Given the description of an element on the screen output the (x, y) to click on. 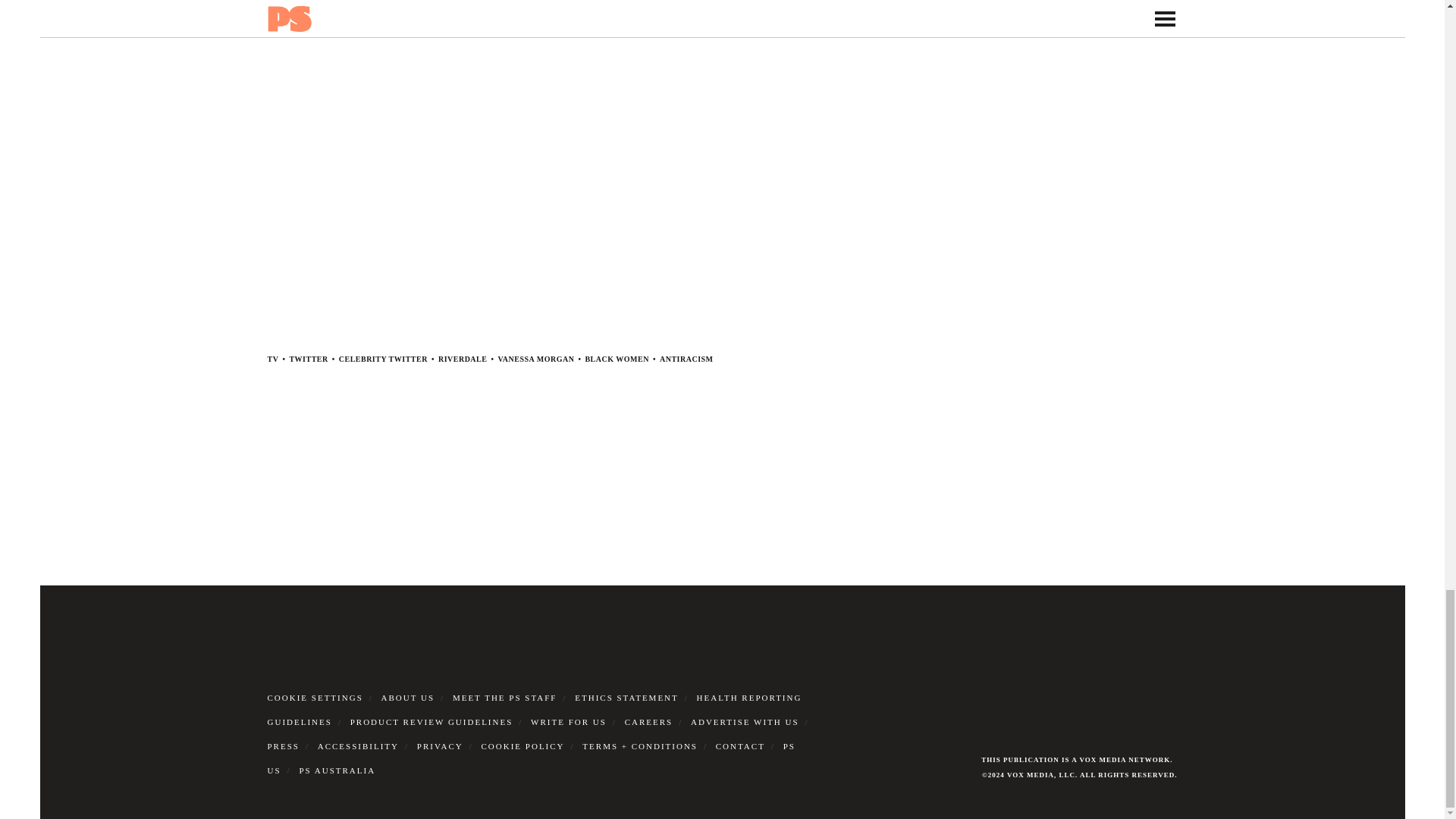
WRITE FOR US (569, 721)
PRODUCT REVIEW GUIDELINES (431, 721)
CELEBRITY TWITTER (383, 358)
TWITTER (307, 358)
CAREERS (648, 721)
BLACK WOMEN (617, 358)
TV (272, 358)
MEET THE PS STAFF (504, 697)
ETHICS STATEMENT (626, 697)
ABOUT US (408, 697)
ANTIRACISM (686, 358)
VANESSA MORGAN (535, 358)
ADVERTISE WITH US (744, 721)
RIVERDALE (462, 358)
HEALTH REPORTING GUIDELINES (534, 709)
